Given the description of an element on the screen output the (x, y) to click on. 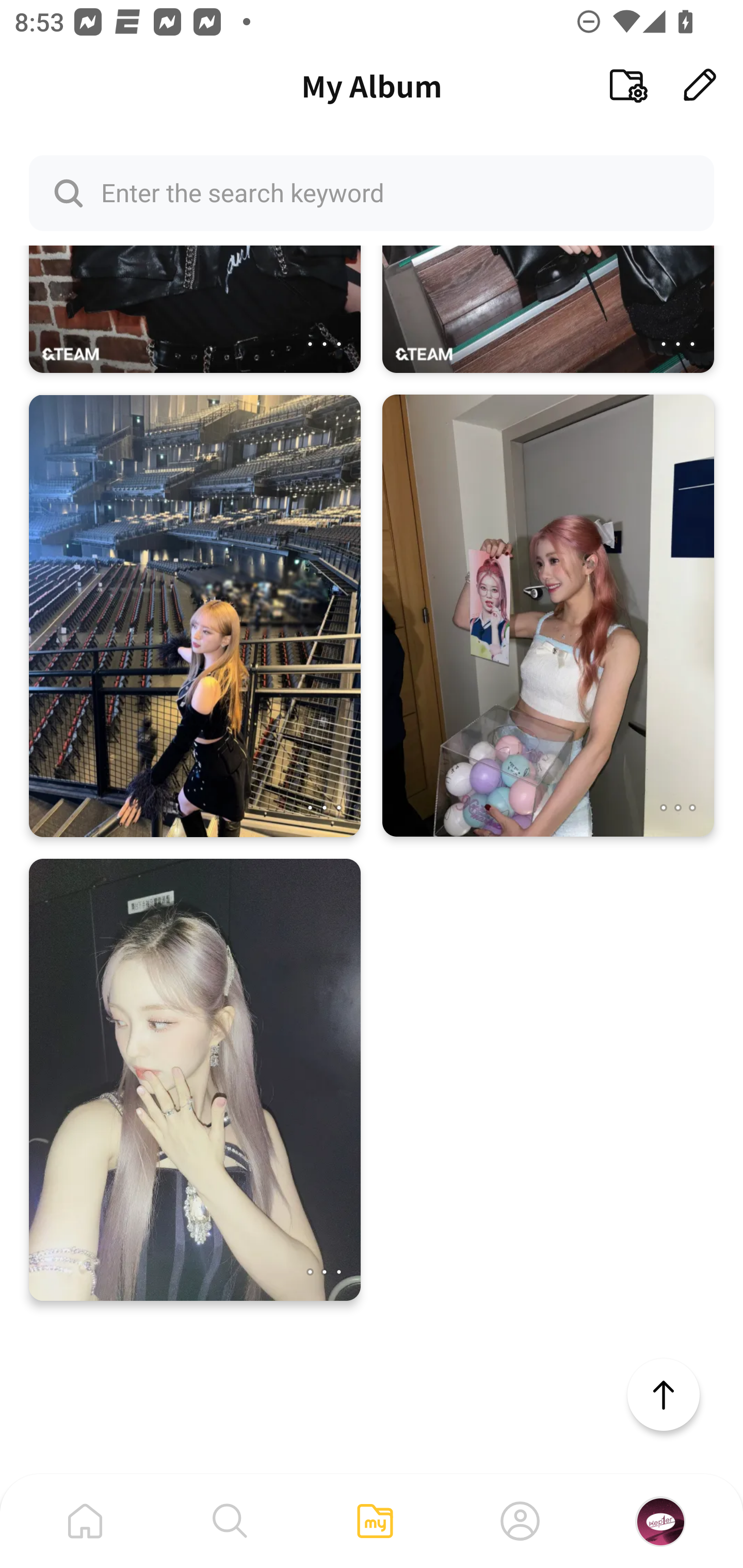
Enter the search keyword (371, 192)
